Given the description of an element on the screen output the (x, y) to click on. 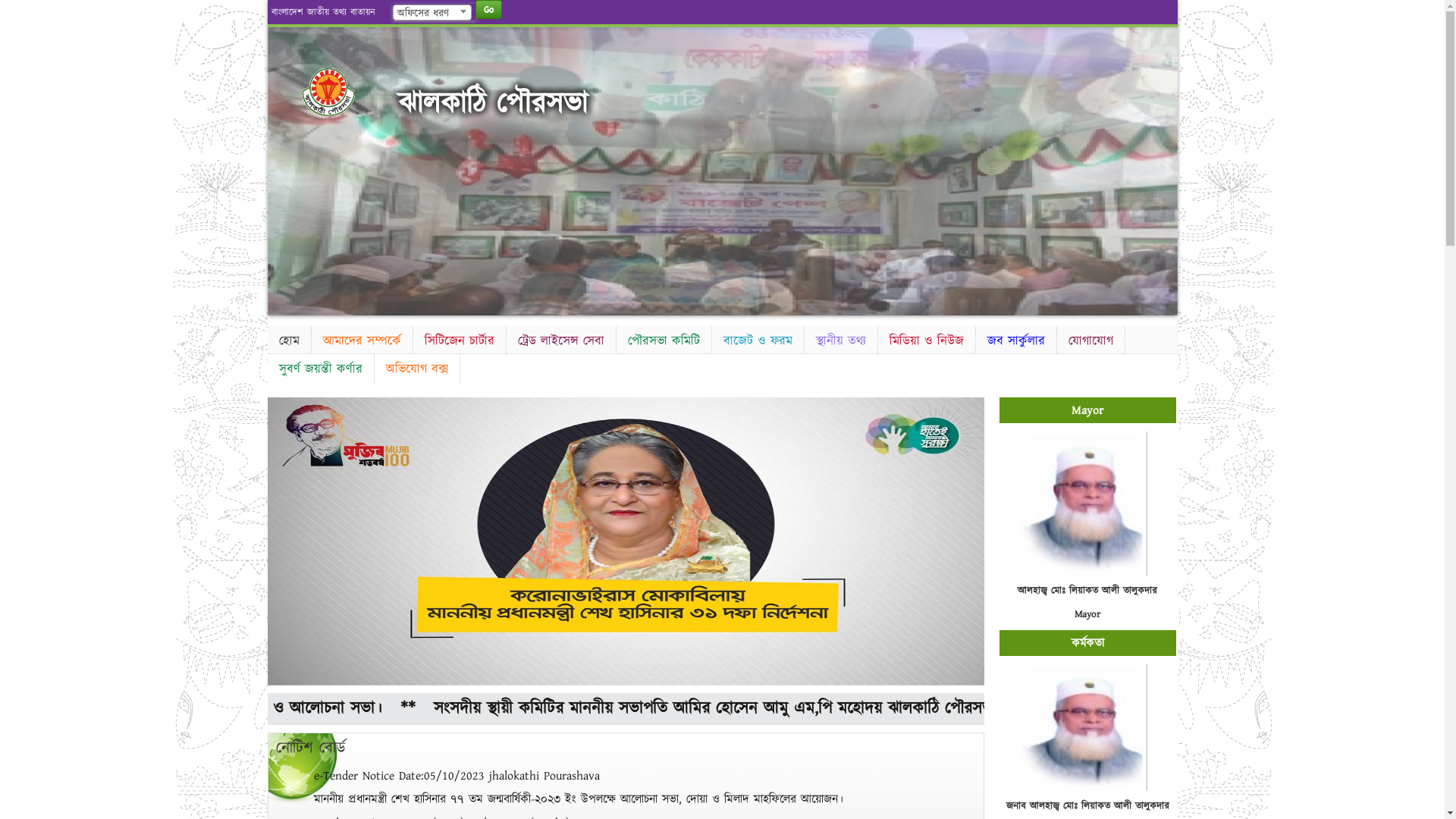
e-Tender Notice Date:05/10/2023 jhalokathi Pourashava Element type: text (456, 775)
Go Element type: text (487, 9)
Previous Element type: text (280, 166)

                    
                 Element type: hover (349, 92)
Next Element type: text (1162, 166)
